Given the description of an element on the screen output the (x, y) to click on. 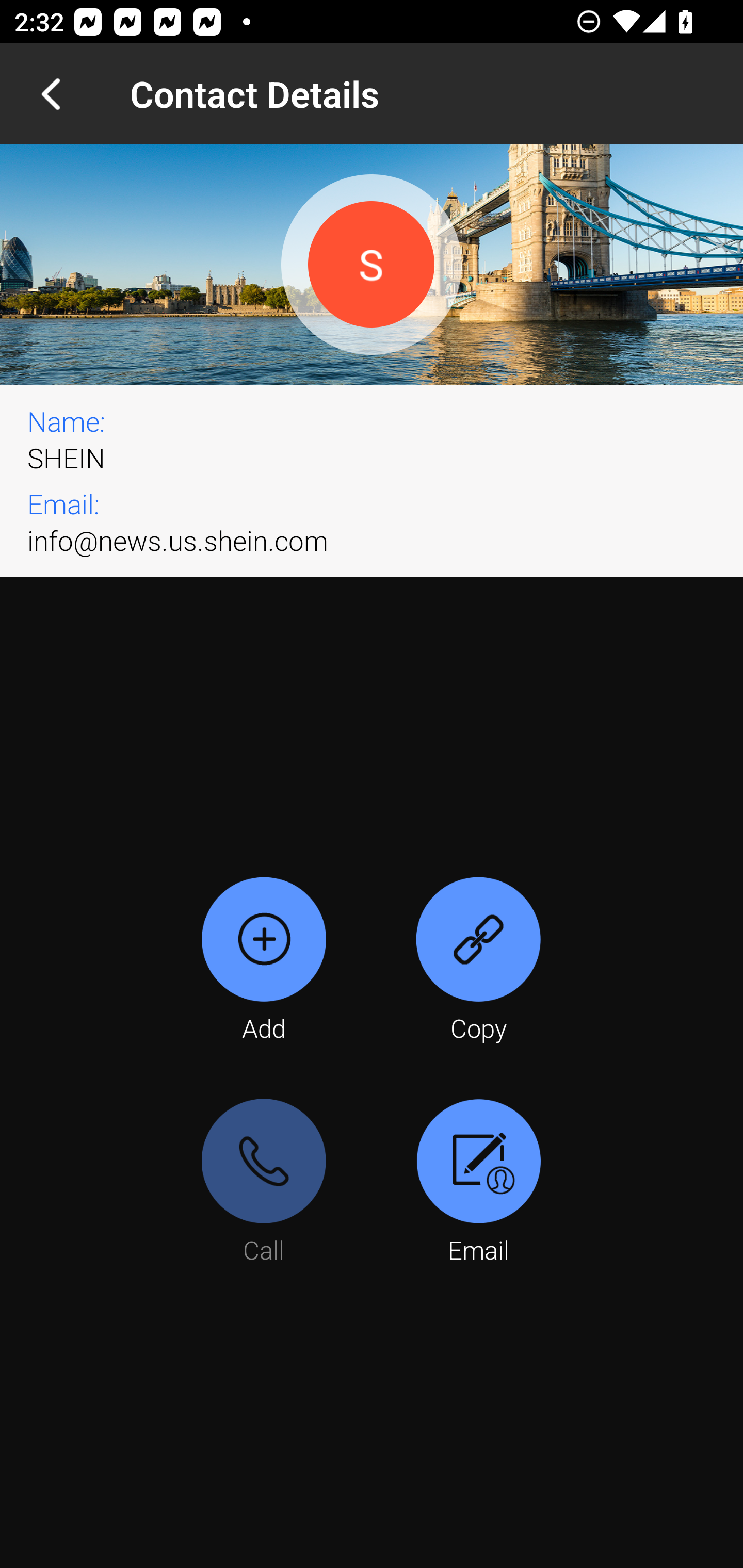
Navigate up (50, 93)
Add (264, 961)
Copy (478, 961)
Call (264, 1182)
Email (478, 1182)
